Given the description of an element on the screen output the (x, y) to click on. 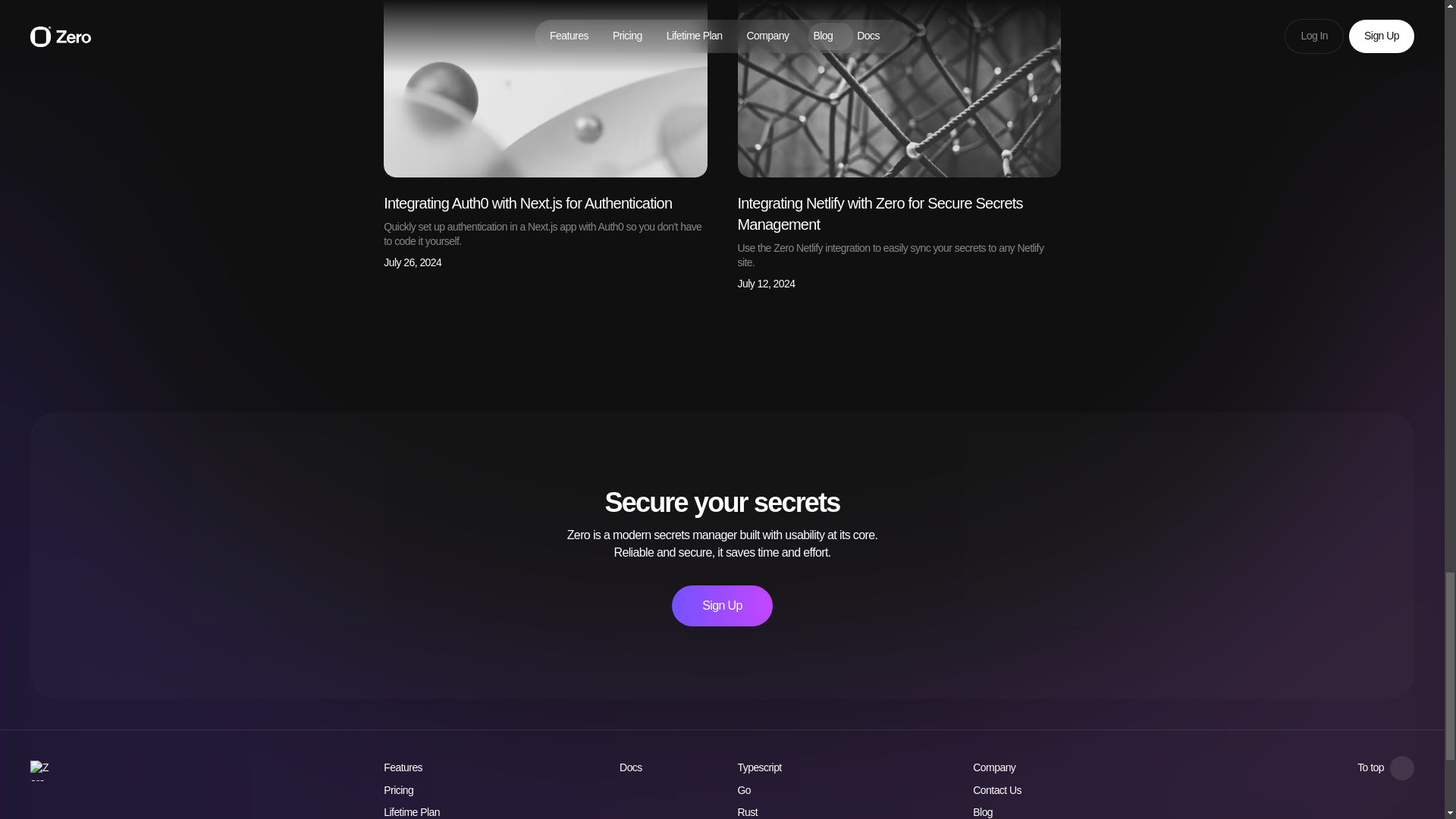
Integrating Auth0 with Next.js for Authentication (527, 202)
Rust (754, 812)
Lifetime Plan (411, 812)
Integrating Netlify with Zero for Secure Secrets Management (879, 213)
Docs (750, 790)
Features (639, 767)
Sign Up (403, 767)
Typescript (721, 605)
To top (766, 767)
Pricing (1384, 767)
